Given the description of an element on the screen output the (x, y) to click on. 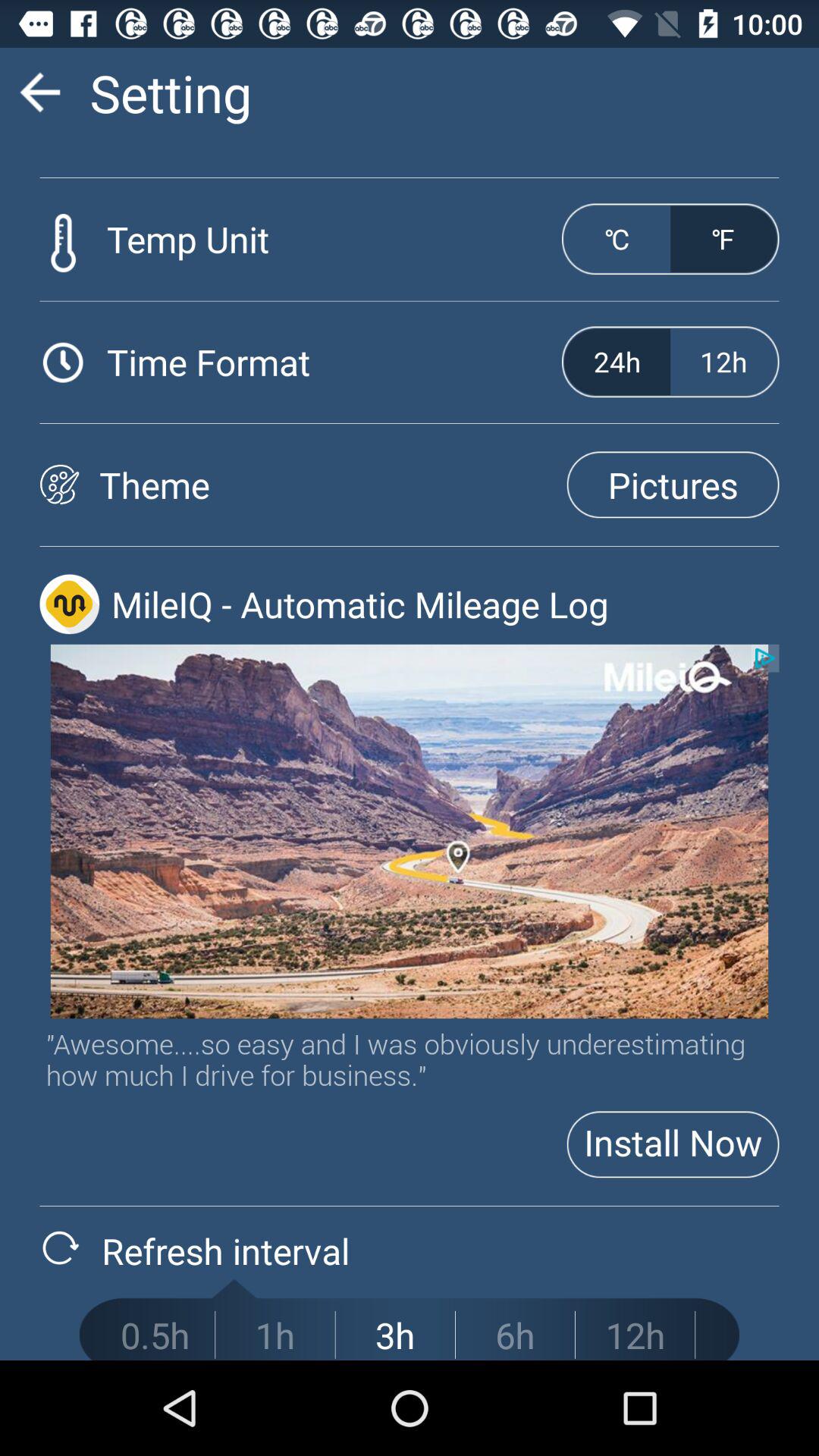
jump to the mileiq automatic mileage app (445, 604)
